Given the description of an element on the screen output the (x, y) to click on. 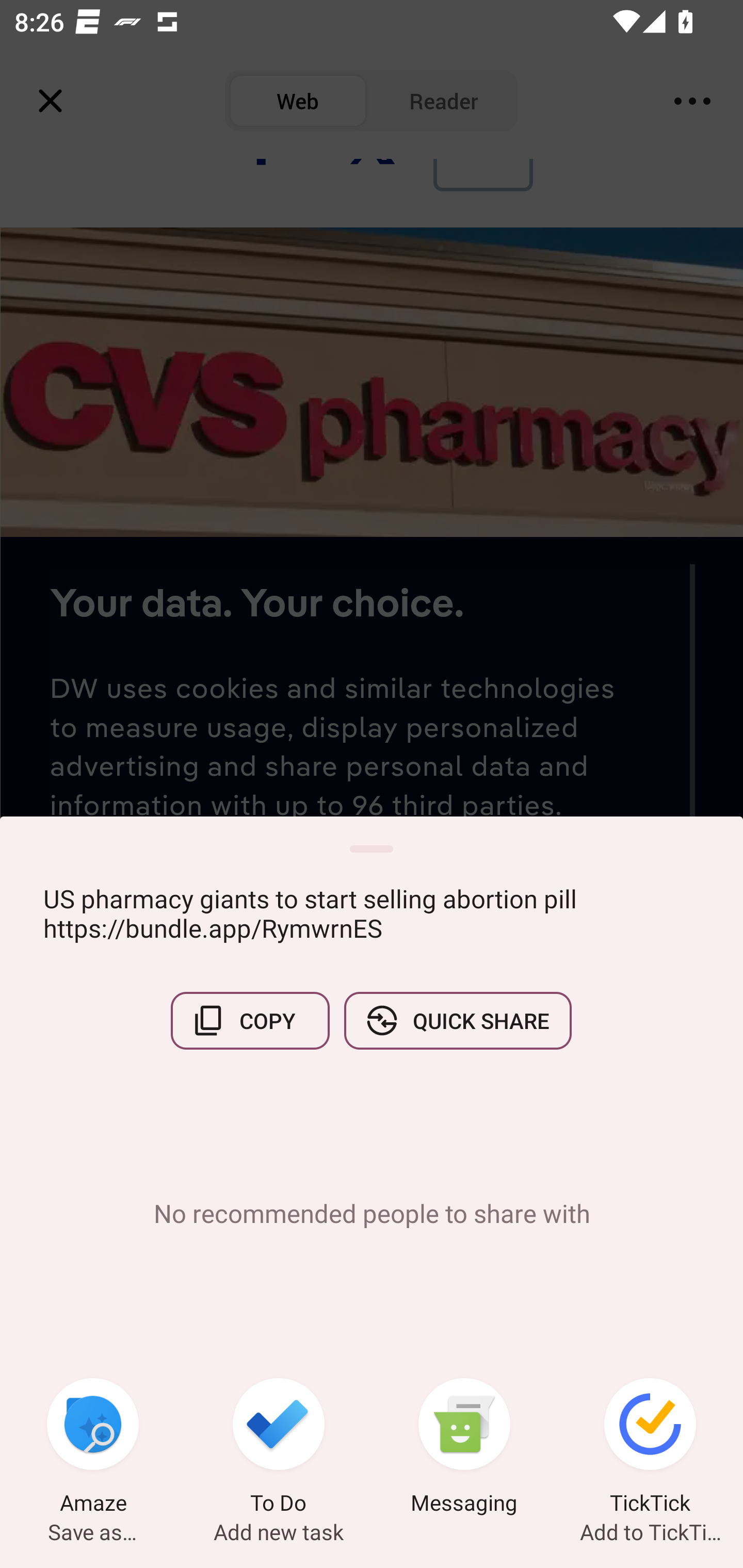
COPY (249, 1020)
QUICK SHARE (457, 1020)
Amaze Save as… (92, 1448)
To Do Add new task (278, 1448)
Messaging (464, 1448)
TickTick Add to TickTick (650, 1448)
